Given the description of an element on the screen output the (x, y) to click on. 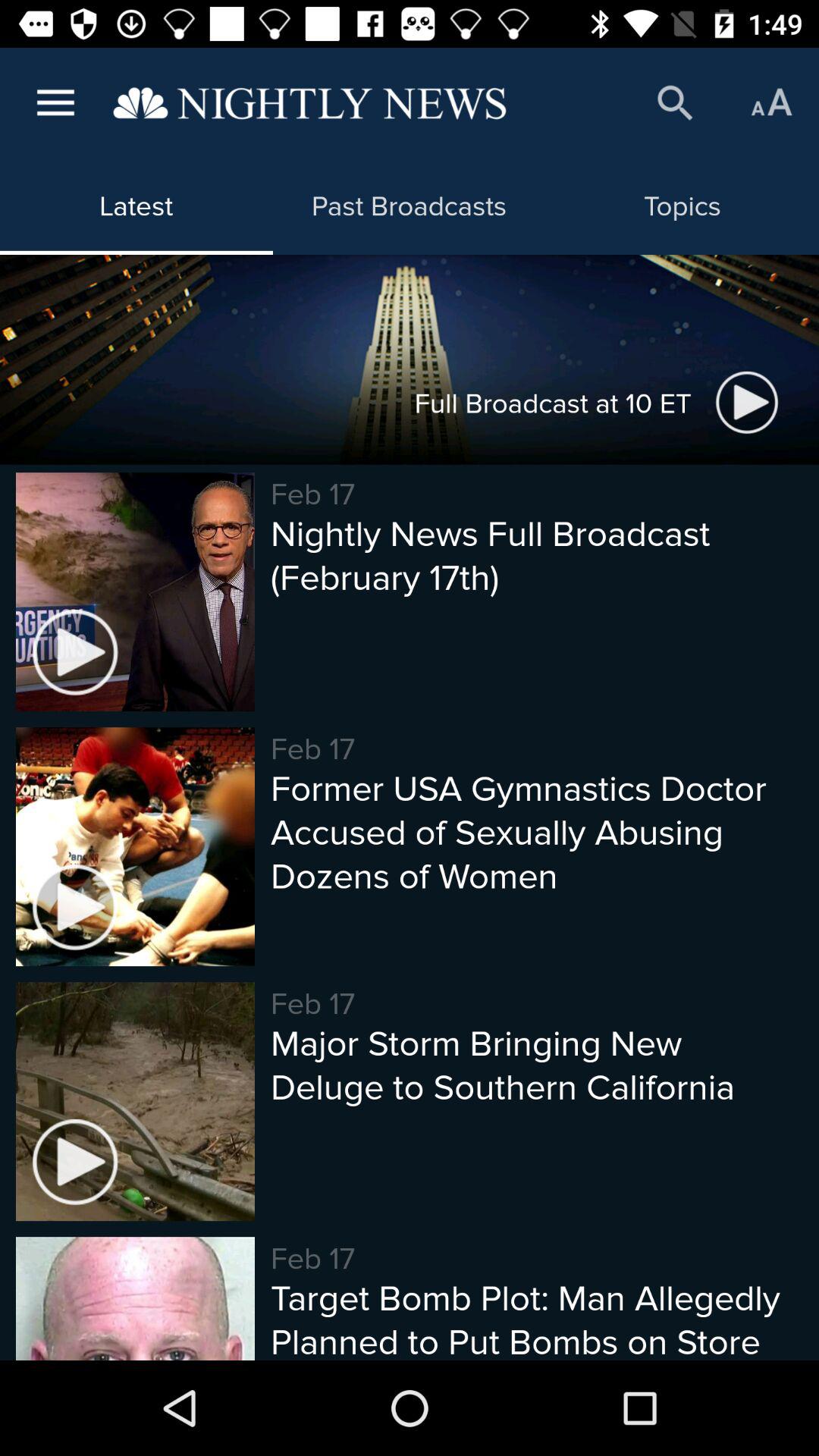
choose the icon above the topics (675, 103)
